Given the description of an element on the screen output the (x, y) to click on. 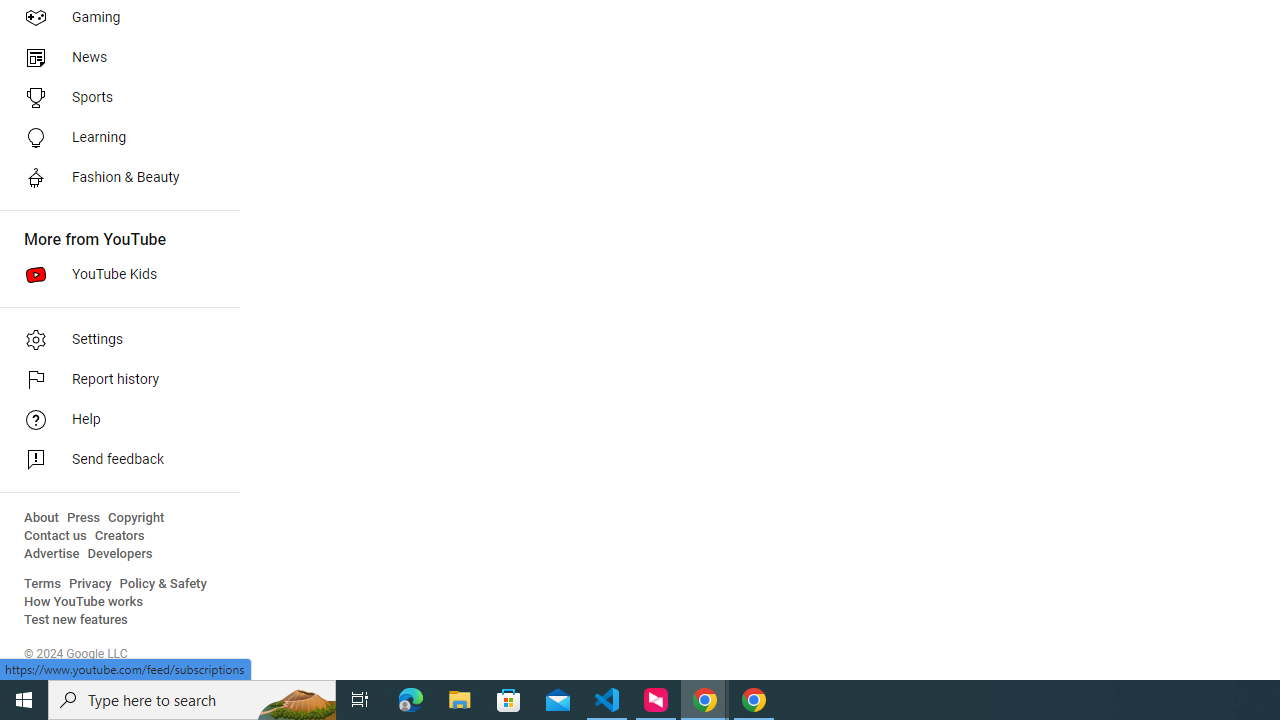
Contact us (55, 536)
Press (83, 518)
Sports (113, 97)
About (41, 518)
YouTube Kids (113, 274)
